Given the description of an element on the screen output the (x, y) to click on. 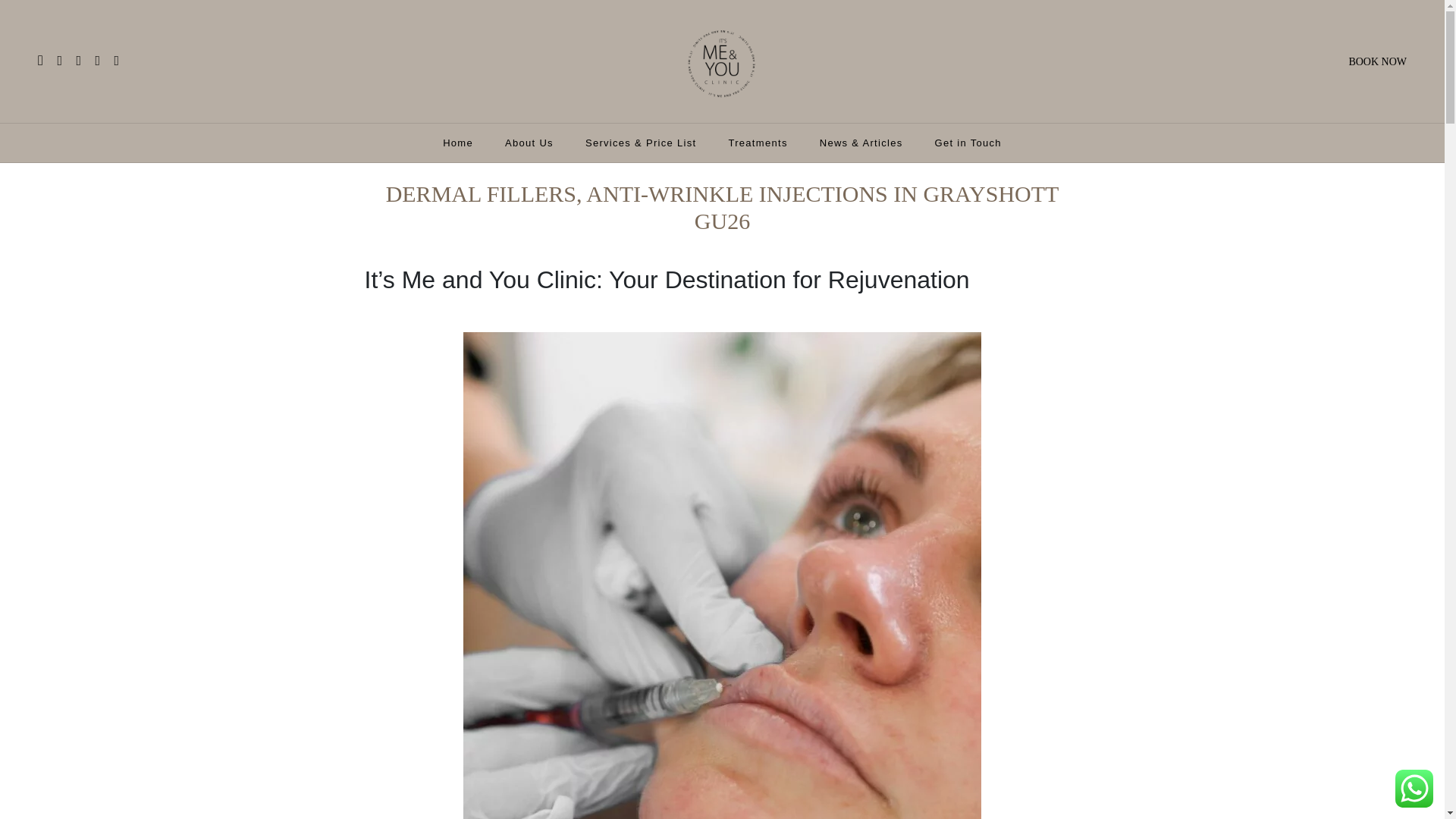
BOOK NOW (1377, 61)
Treatments (757, 142)
Home (457, 142)
About Us (529, 142)
Get in Touch (967, 142)
